Given the description of an element on the screen output the (x, y) to click on. 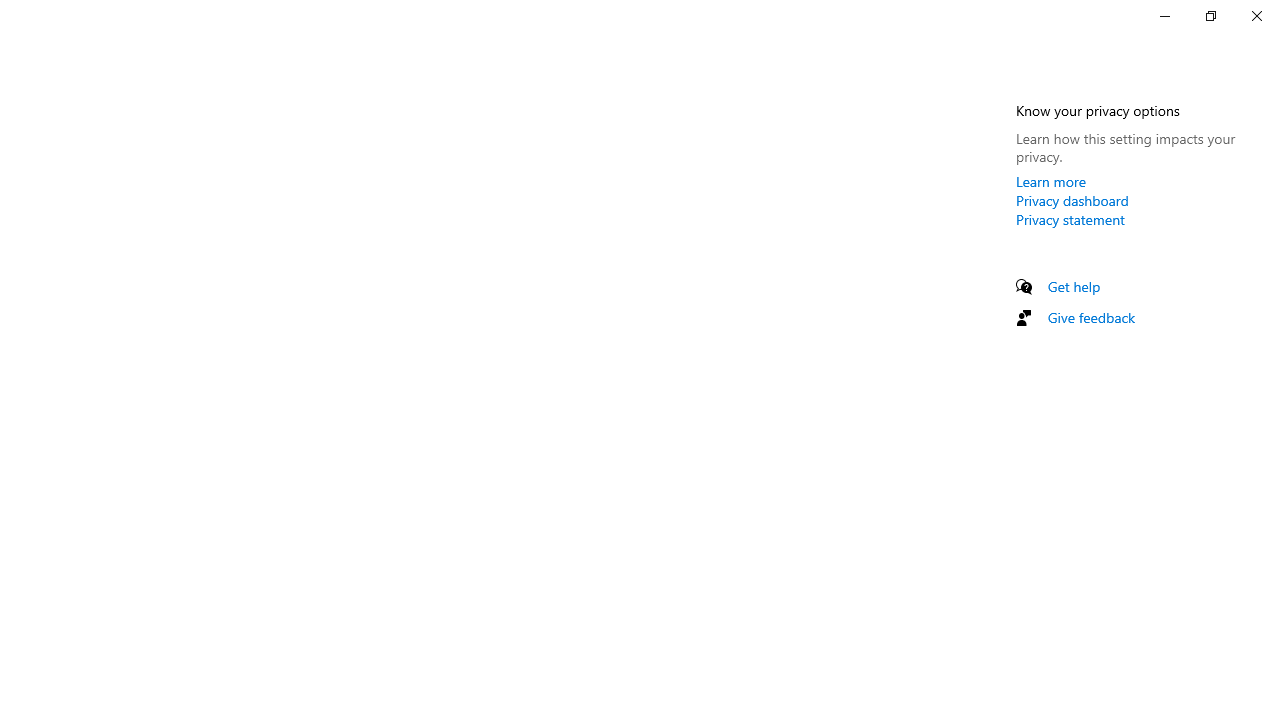
Get help (1074, 286)
Give feedback (1091, 317)
Privacy statement (1070, 219)
Close Settings (1256, 15)
Learn more (1051, 181)
Privacy dashboard (1072, 200)
Minimize Settings (1164, 15)
Restore Settings (1210, 15)
